Given the description of an element on the screen output the (x, y) to click on. 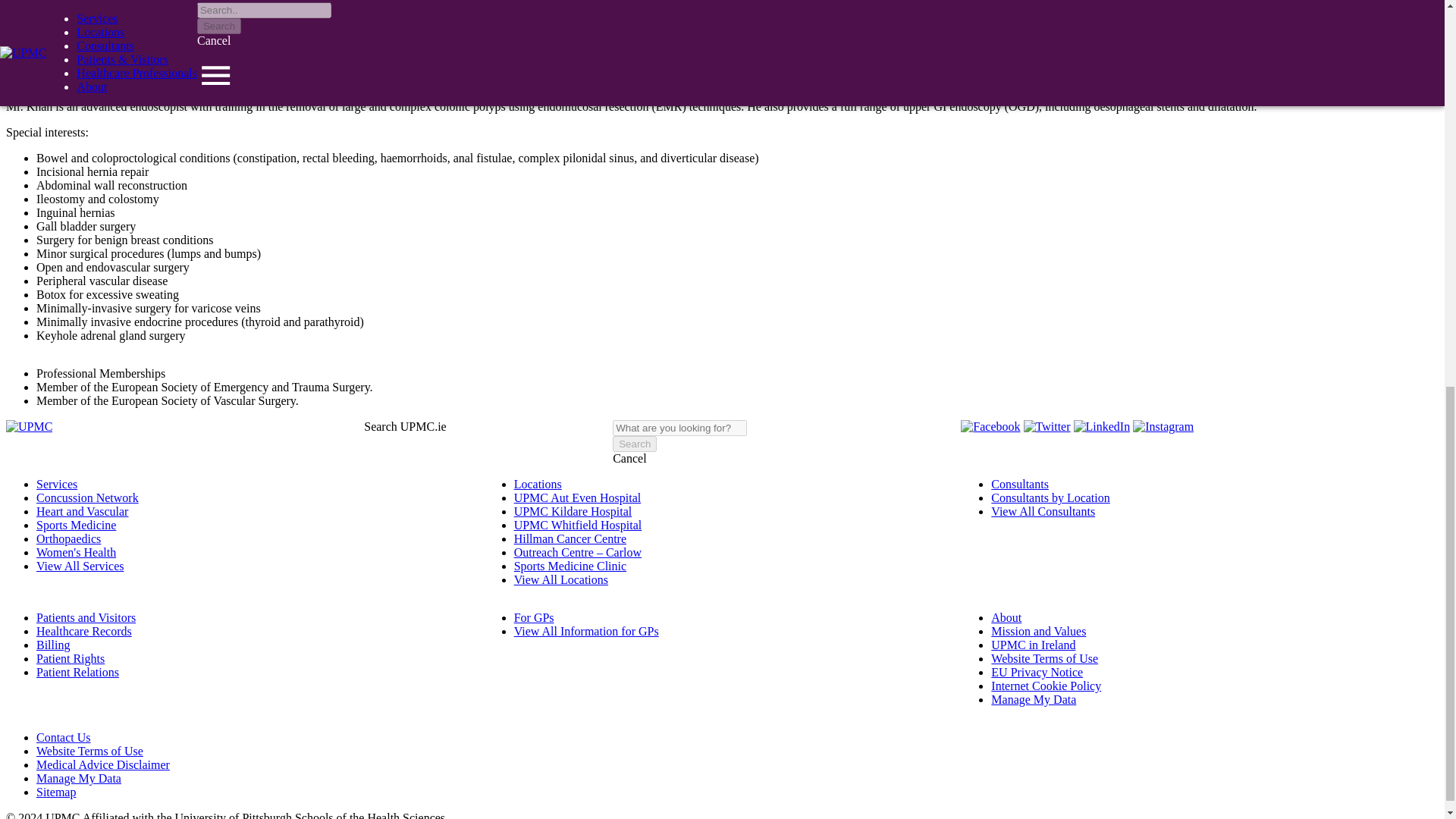
Locations (537, 483)
Search (634, 443)
Hillman Cancer Centre (569, 538)
UPMC Kildare Hospital (572, 511)
UPMC Whitfield Hospital (577, 524)
Services (56, 483)
UPMC Aut Even Hospital (577, 497)
Sports Medicine (76, 524)
Search (634, 443)
Orthopaedics (68, 538)
